Given the description of an element on the screen output the (x, y) to click on. 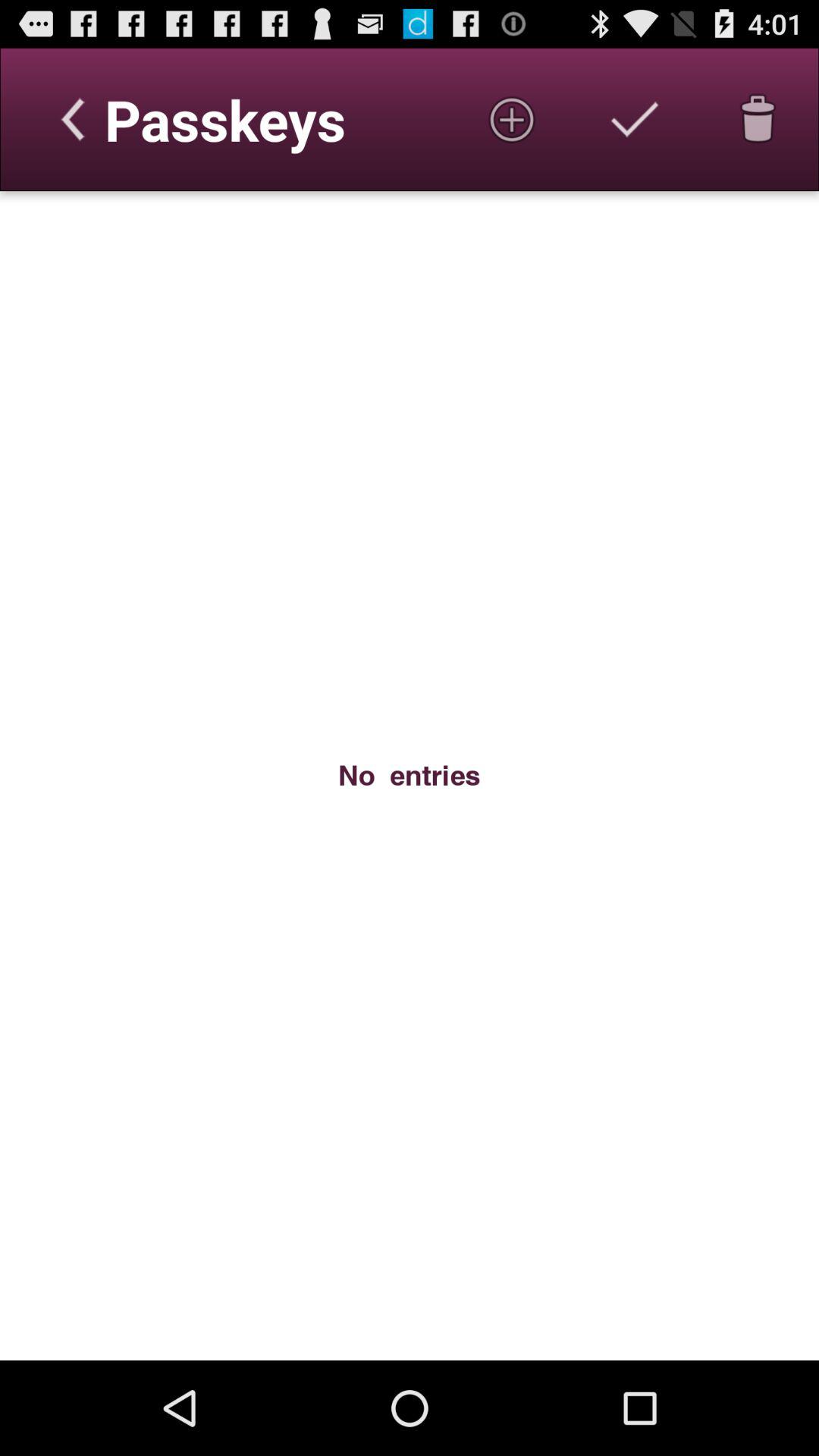
add item (511, 119)
